Given the description of an element on the screen output the (x, y) to click on. 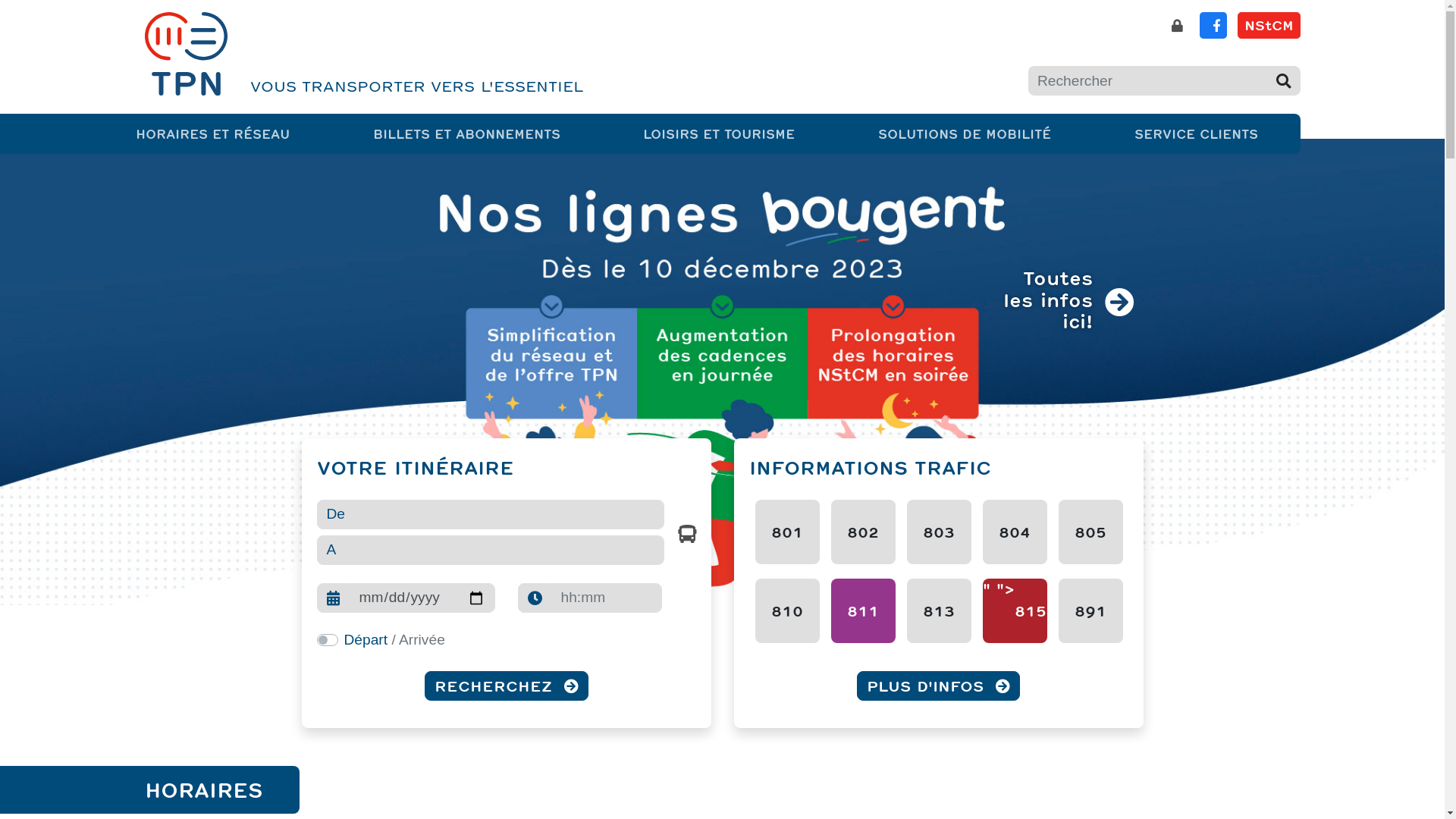
811 Element type: text (863, 610)
PLUS D'INFOS Element type: text (937, 685)
LOISIRS ET TOURISME
(CURRENT) Element type: text (718, 133)
NStCM Element type: text (1268, 25)
BILLETS ET ABONNEMENTS
(CURRENT) Element type: text (466, 133)
804 Element type: text (1014, 531)
" ">
815 Element type: text (1014, 610)
Toutes
les infos
ici! Element type: text (1068, 302)
801 Element type: text (787, 531)
SERVICE CLIENTS
(CURRENT) Element type: text (1196, 133)
813 Element type: text (938, 610)
803 Element type: text (938, 531)
810 Element type: text (787, 610)
805 Element type: text (1090, 531)
891 Element type: text (1090, 610)
802 Element type: text (863, 531)
RECHERCHEZ Element type: text (506, 685)
